Given the description of an element on the screen output the (x, y) to click on. 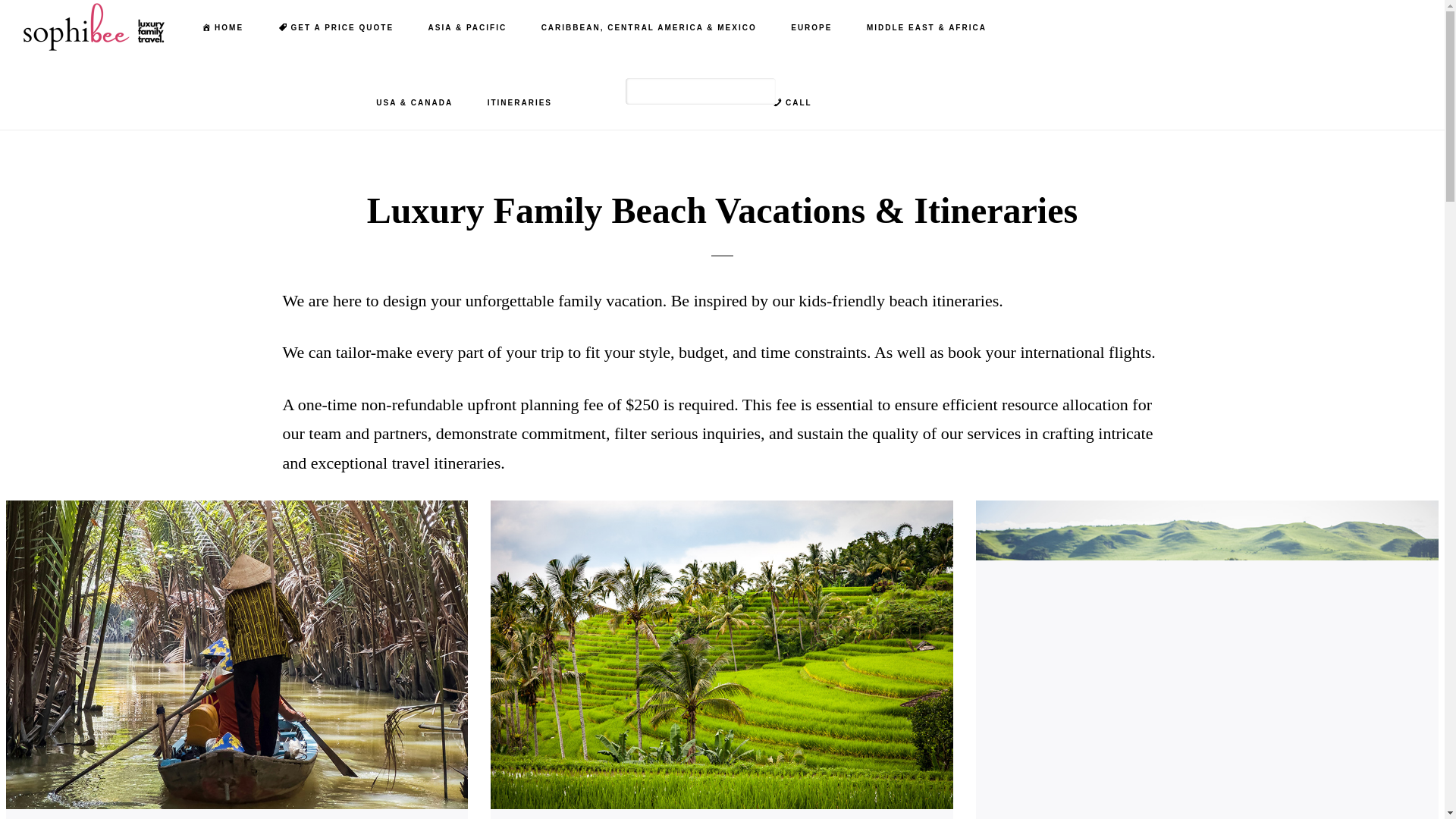
EUROPE (811, 27)
ITINERARIES (519, 102)
GET A PRICE QUOTE (336, 27)
HOME (222, 27)
SOPHIBEE LUXURY FAMILY TRAVEL AGENCY (98, 26)
CALL (792, 102)
